Given the description of an element on the screen output the (x, y) to click on. 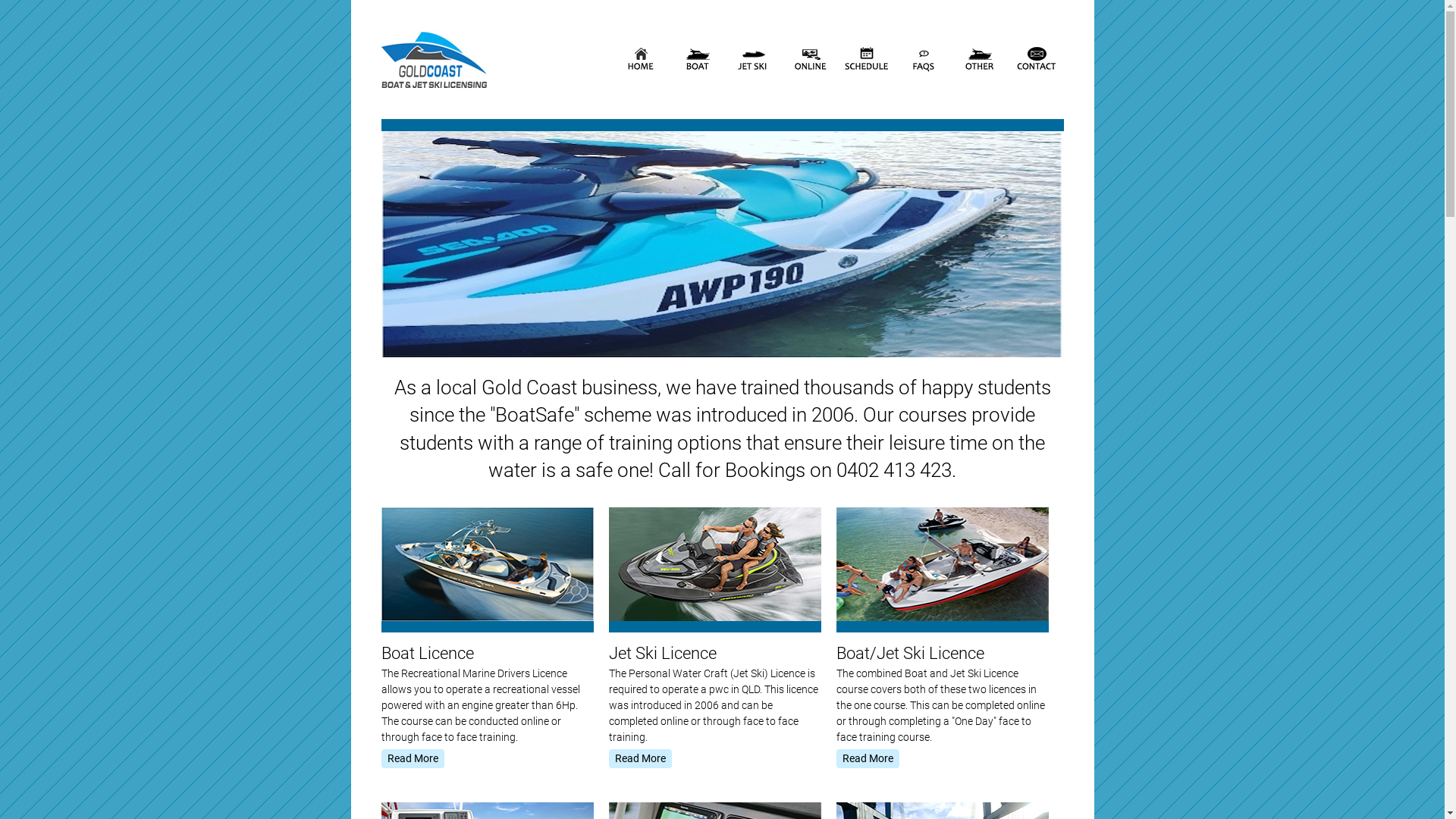
Read More Element type: text (866, 758)
Read More Element type: text (639, 758)
Read More Element type: text (411, 758)
